Given the description of an element on the screen output the (x, y) to click on. 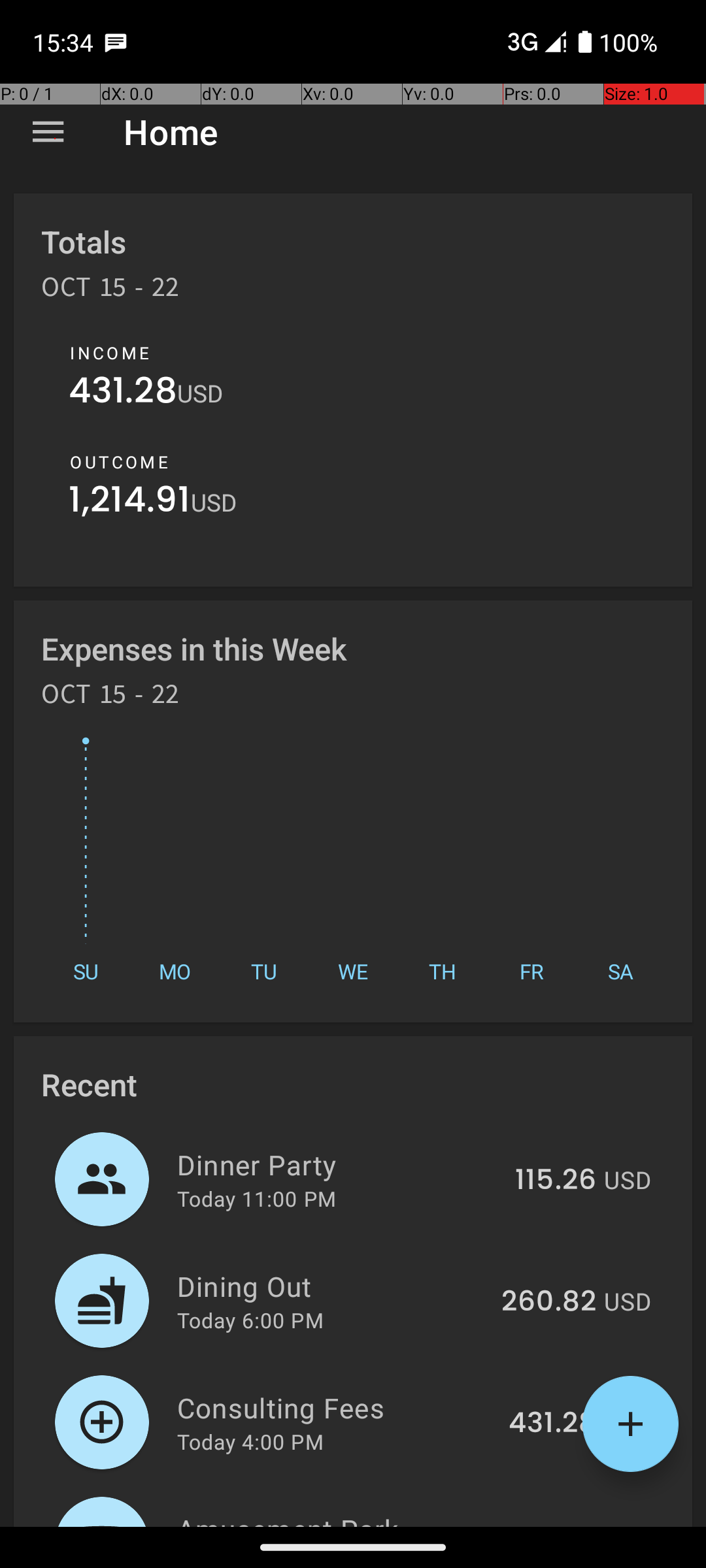
431.28 Element type: android.widget.TextView (122, 393)
1,214.91 Element type: android.widget.TextView (129, 502)
Dinner Party Element type: android.widget.TextView (338, 1164)
Today 11:00 PM Element type: android.widget.TextView (256, 1198)
115.26 Element type: android.widget.TextView (555, 1180)
Dining Out Element type: android.widget.TextView (331, 1285)
Today 6:00 PM Element type: android.widget.TextView (250, 1320)
260.82 Element type: android.widget.TextView (548, 1301)
Consulting Fees Element type: android.widget.TextView (335, 1407)
Today 4:00 PM Element type: android.widget.TextView (250, 1441)
Amusement Park Element type: android.widget.TextView (330, 1518)
457.69 Element type: android.widget.TextView (547, 1524)
SMS Messenger notification: +12845986552 Element type: android.widget.ImageView (115, 41)
